Given the description of an element on the screen output the (x, y) to click on. 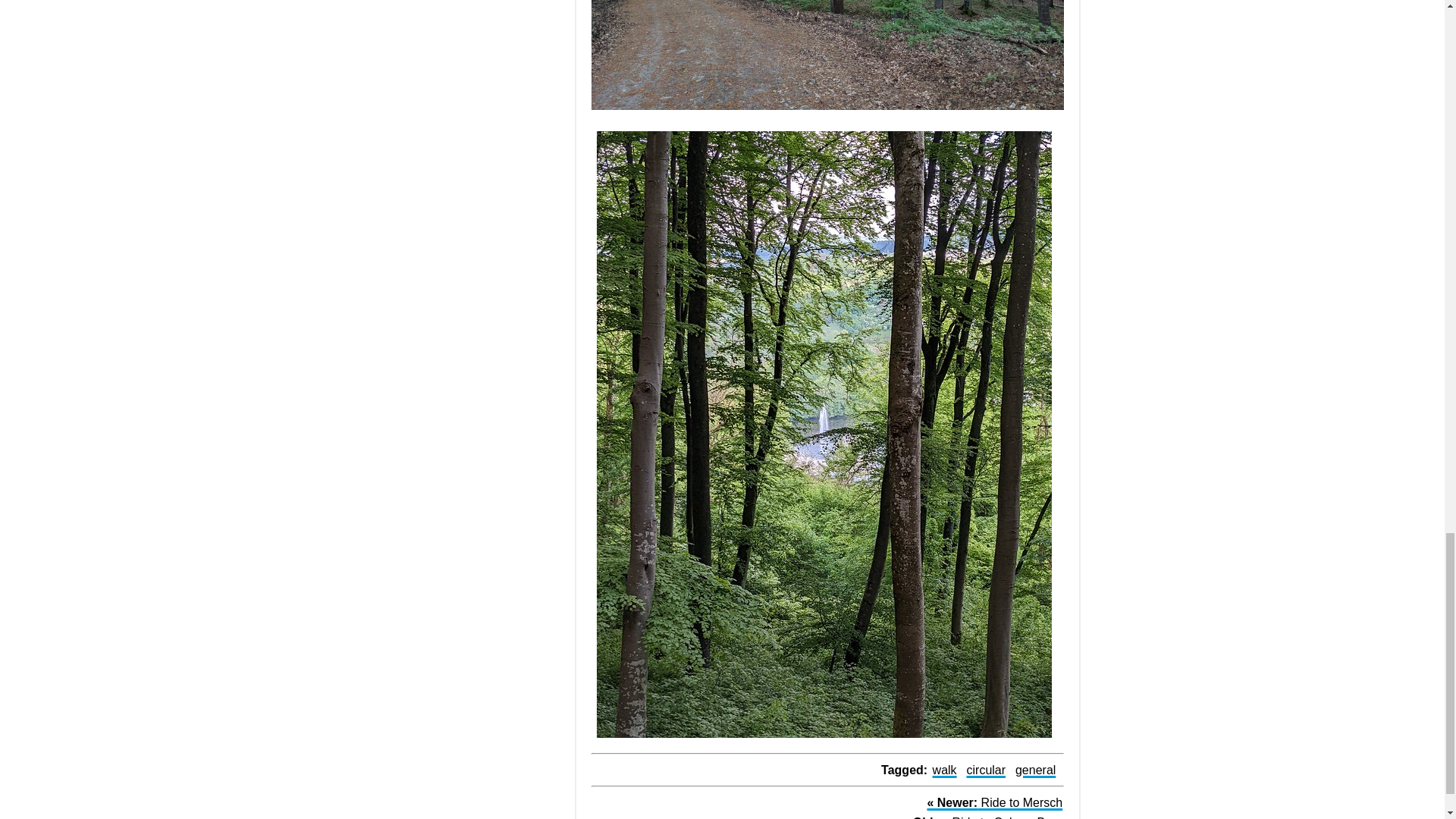
walk (944, 770)
general (1035, 770)
circular (985, 770)
